Given the description of an element on the screen output the (x, y) to click on. 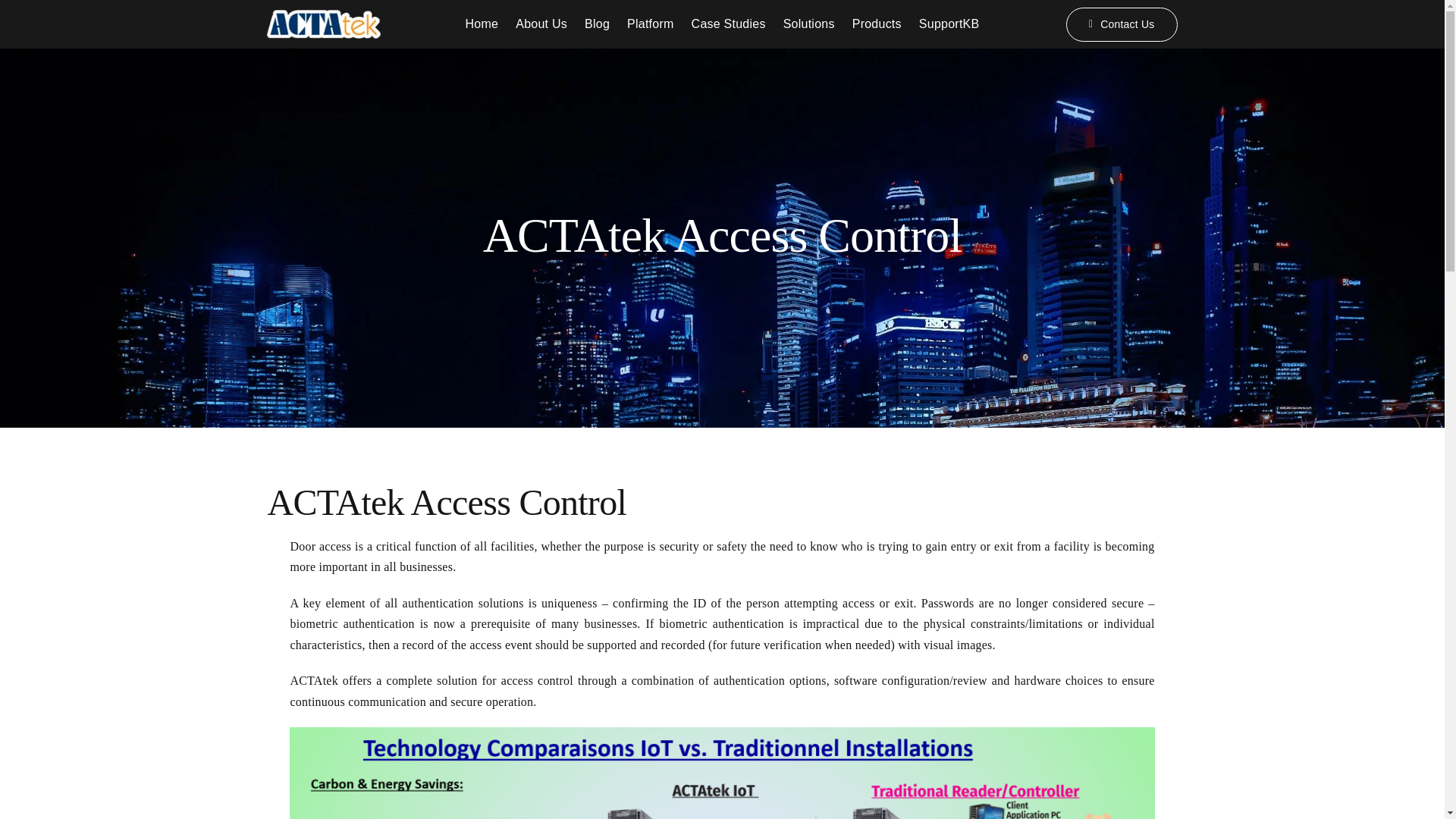
Products (876, 24)
Case Studies (728, 24)
Platform (650, 24)
Solutions (808, 24)
About Us (541, 24)
Contact Us (1120, 24)
SupportKB (948, 24)
